Given the description of an element on the screen output the (x, y) to click on. 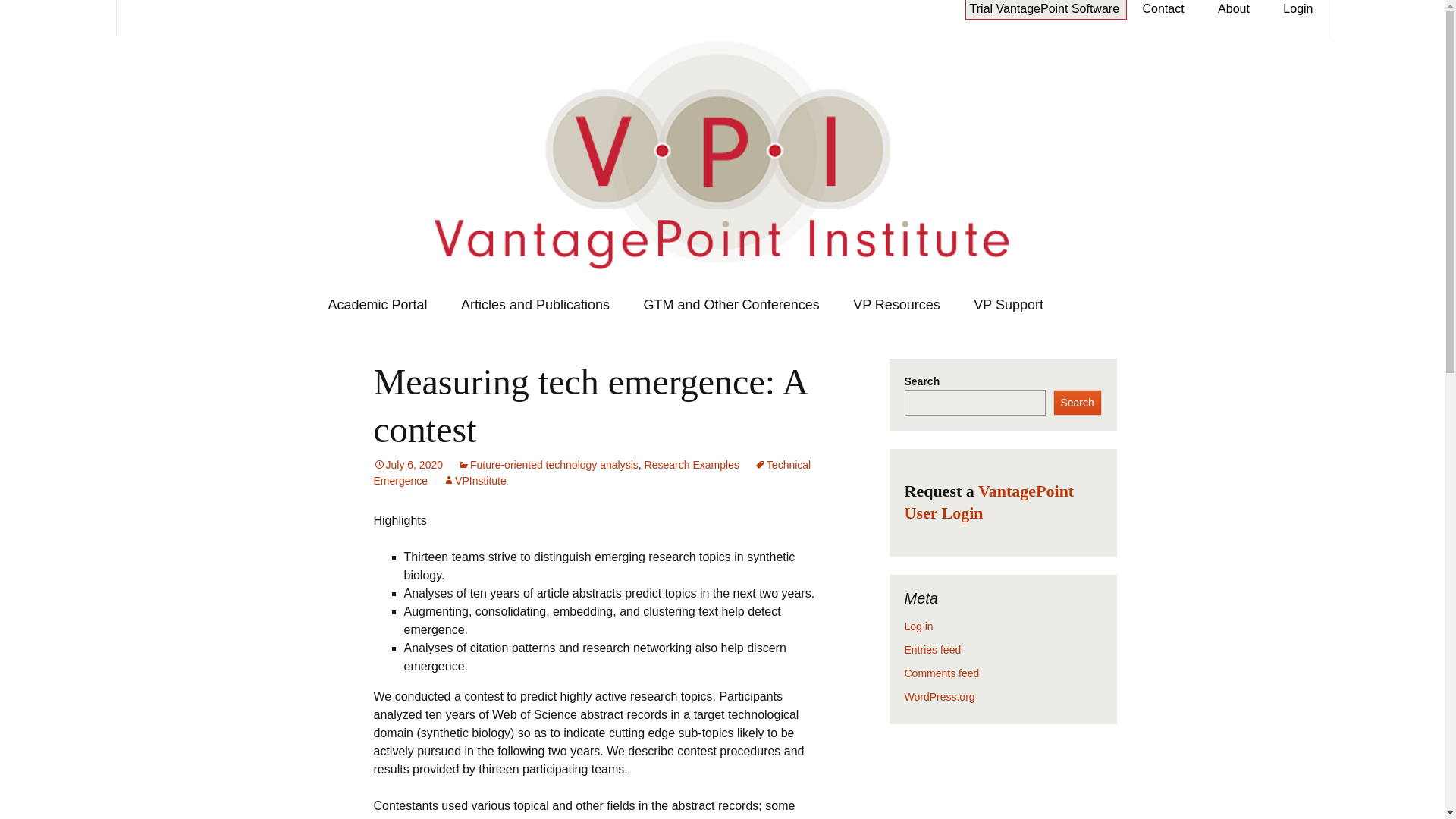
Global TechMining Conference 2022 (704, 332)
About (1233, 8)
View all posts by VPInstitute (474, 480)
GTM and Other Conferences (731, 304)
Academic Portal (377, 304)
About (1233, 8)
Import Filters (914, 325)
Contact (1162, 8)
Contact (1162, 8)
VP Resources (896, 304)
VP Support (1008, 304)
Trial VantagePoint Software (1044, 8)
Contact (1044, 8)
Permalink to Measuring tech emergence: A contest (407, 464)
